Given the description of an element on the screen output the (x, y) to click on. 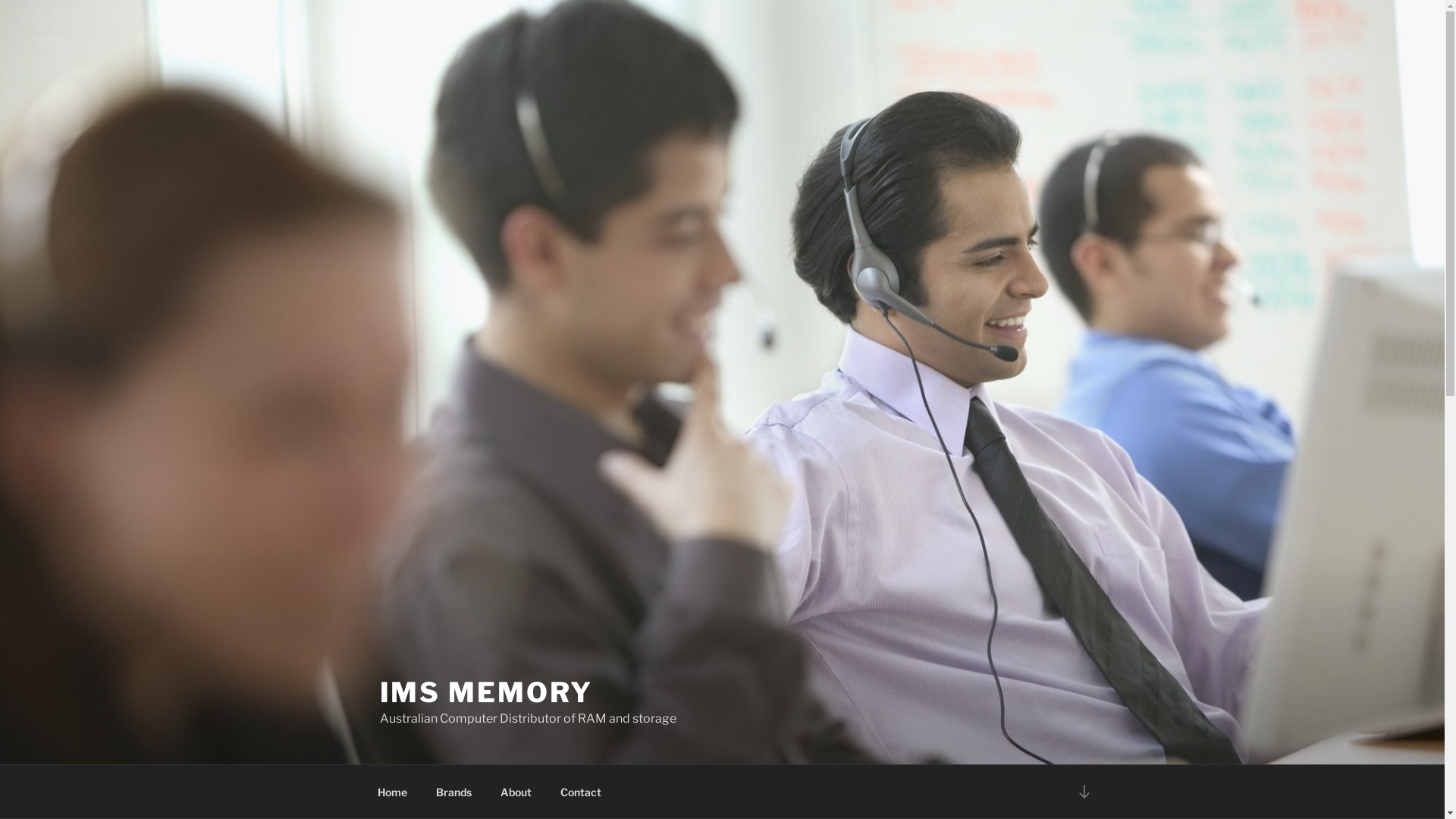
Home Element type: text (392, 791)
Scroll down to content Element type: text (1083, 790)
About Element type: text (515, 791)
Contact Element type: text (581, 791)
Skip to content Element type: text (0, 0)
IMS MEMORY Element type: text (486, 692)
Brands Element type: text (454, 791)
